Given the description of an element on the screen output the (x, y) to click on. 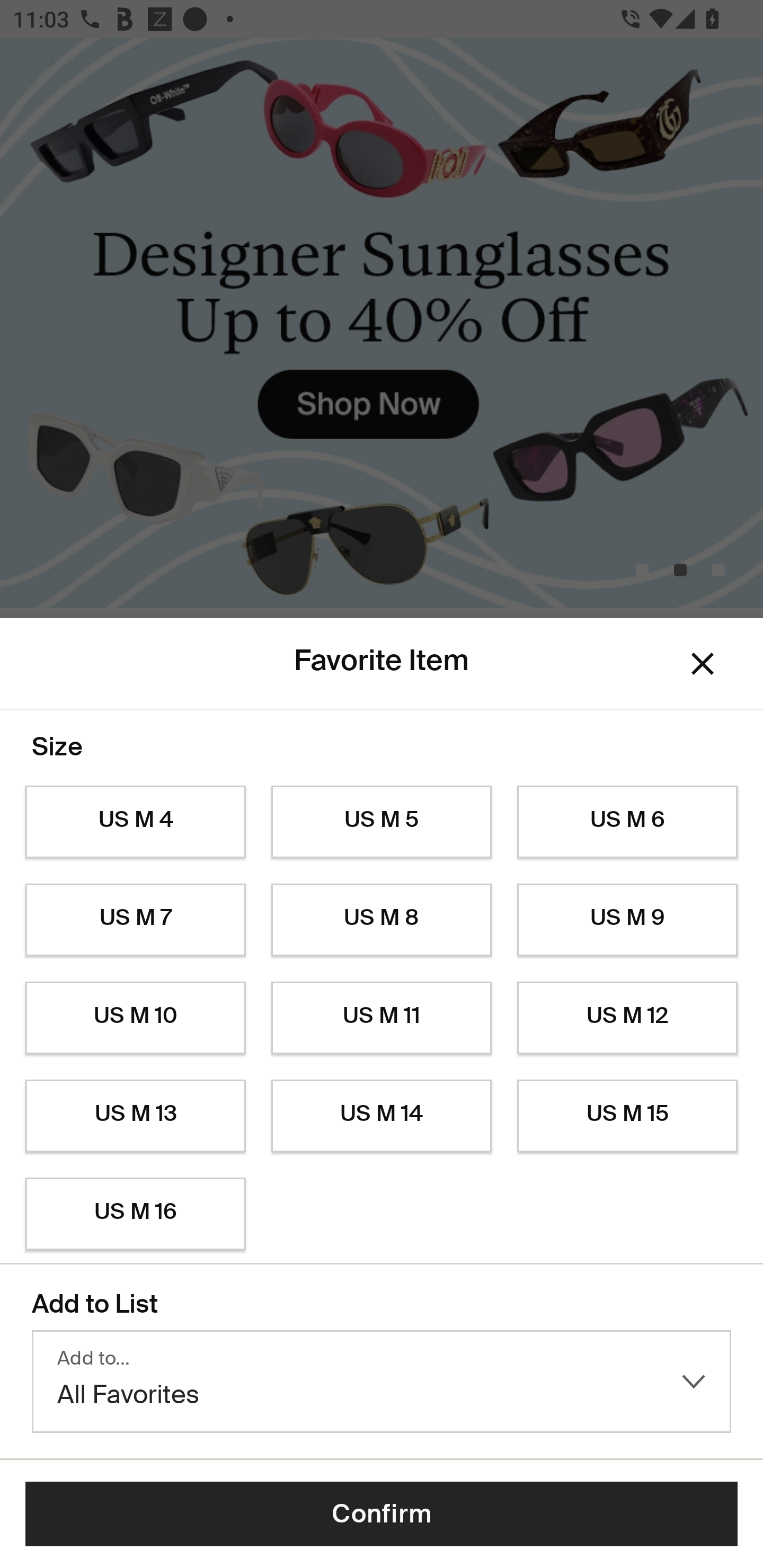
Dismiss (702, 663)
US M 4 (135, 822)
US M 5 (381, 822)
US M 6 (627, 822)
US M 7 (135, 919)
US M 8 (381, 919)
US M 9 (627, 919)
US M 10 (135, 1018)
US M 11 (381, 1018)
US M 12 (627, 1018)
US M 13 (135, 1116)
US M 14 (381, 1116)
US M 15 (627, 1116)
US M 16 (135, 1214)
Add to… All Favorites (381, 1381)
Confirm (381, 1513)
